Given the description of an element on the screen output the (x, y) to click on. 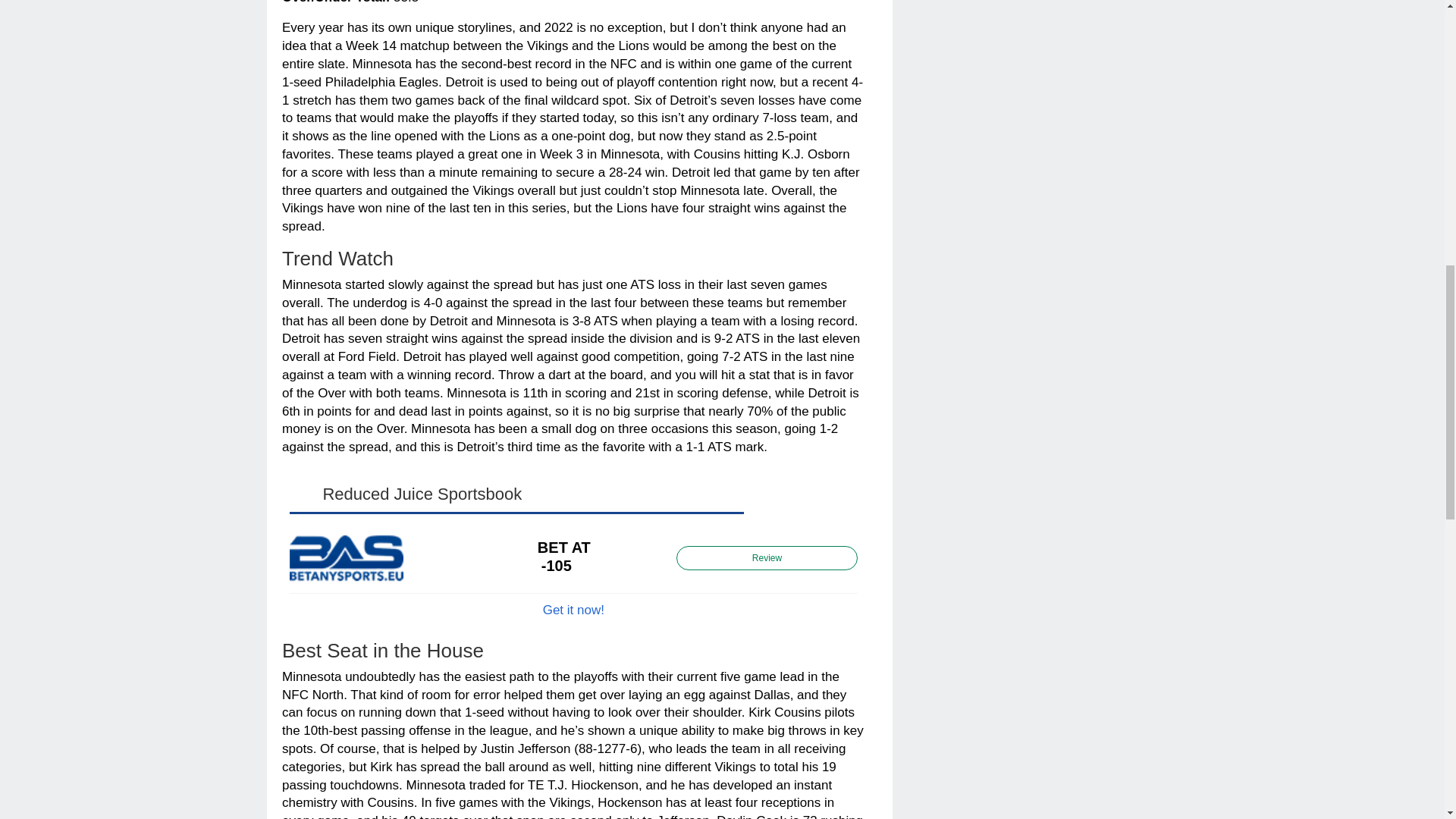
BAS Sportsbook Review (767, 556)
Reduced Juice Sports Betting (573, 609)
